Given the description of an element on the screen output the (x, y) to click on. 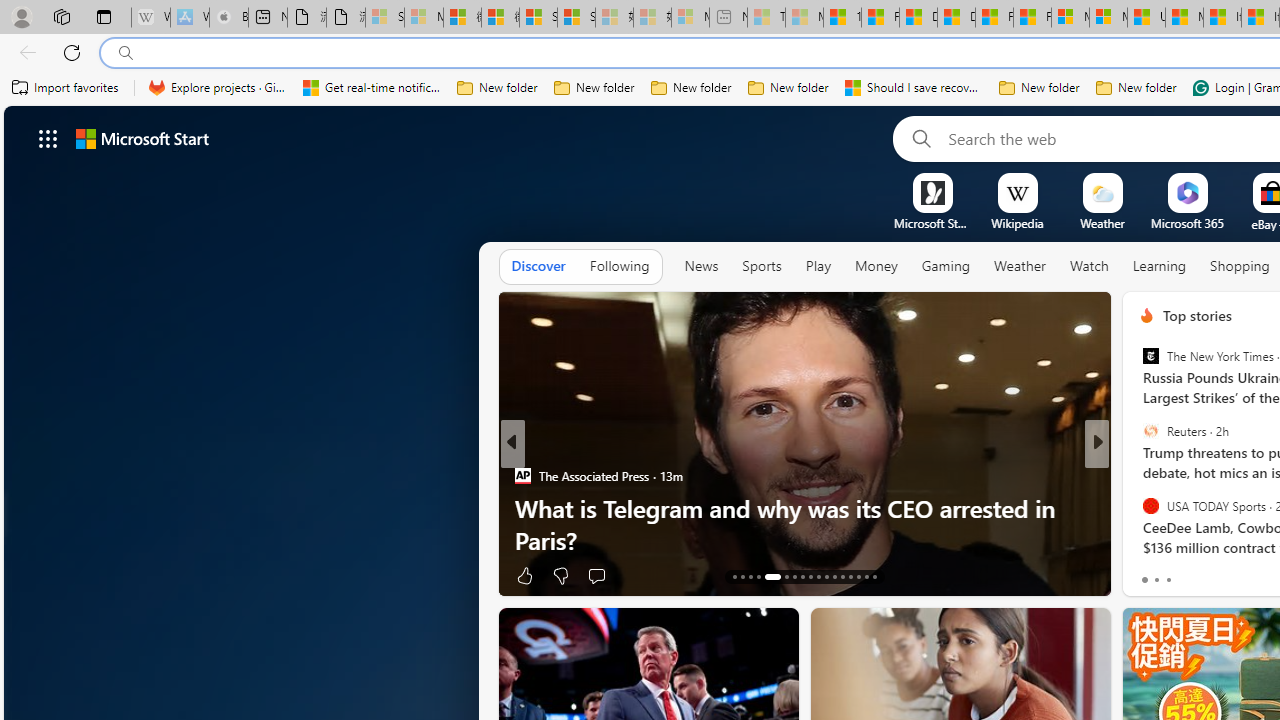
255 Like (1151, 574)
Nordace (1153, 475)
AutomationID: tab-24 (833, 576)
Microsoft account | Account Checkup - Sleeping (690, 17)
Gaming (945, 265)
House Beautiful (1138, 475)
PsychLove (1138, 507)
Salon (1138, 475)
Discover (538, 265)
AutomationID: tab-30 (850, 576)
Weather (1019, 267)
View comments 14 Comment (1234, 575)
